Given the description of an element on the screen output the (x, y) to click on. 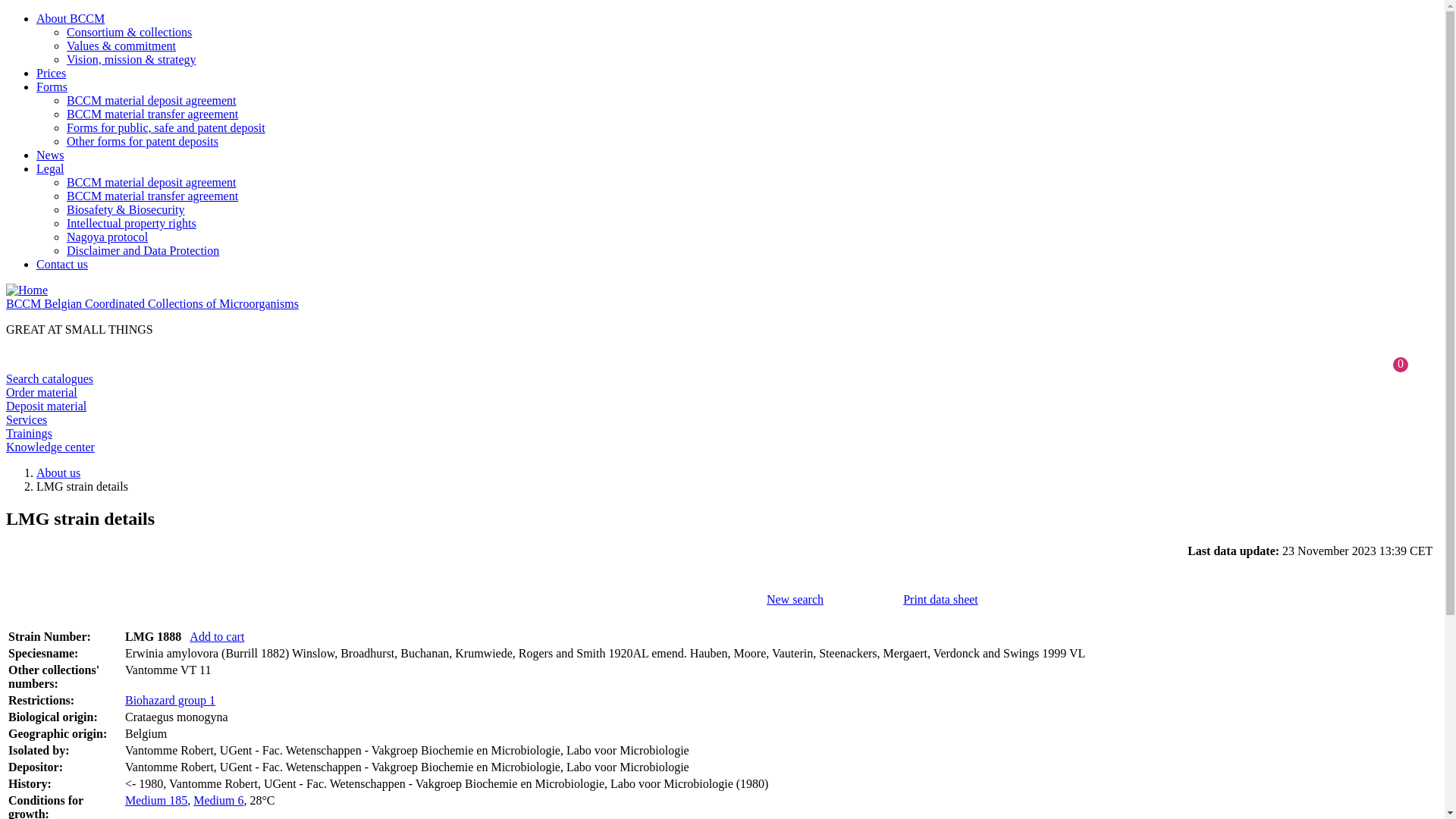
Add to cart Element type: text (216, 636)
Consortium & collections Element type: text (128, 31)
Medium 185 Element type: text (156, 799)
Disclaimer and Data Protection Element type: text (142, 250)
Home Element type: hover (26, 289)
New search Element type: text (794, 599)
Forms for public, safe and patent deposit Element type: text (165, 127)
Nagoya protocol Element type: text (106, 236)
Search catalogues Element type: text (49, 378)
Medium 6 Element type: text (218, 799)
Print data sheet Element type: text (940, 599)
Services Element type: text (26, 419)
Deposit material Element type: text (46, 405)
0 Element type: text (1400, 363)
News Element type: text (49, 154)
Contact us Element type: text (61, 263)
Forms Element type: text (51, 86)
Biosafety & Biosecurity Element type: text (125, 209)
Other forms for patent deposits Element type: text (142, 140)
About us Element type: text (58, 472)
Values & commitment Element type: text (120, 45)
Trainings Element type: text (29, 432)
Knowledge center Element type: text (50, 446)
BCCM Belgian Coordinated Collections of Microorganisms Element type: text (152, 303)
Vision, mission & strategy Element type: text (131, 59)
BCCM material deposit agreement Element type: text (151, 100)
Intellectual property rights Element type: text (131, 222)
Order material Element type: text (41, 391)
Biohazard group 1 Element type: text (170, 699)
BCCM material transfer agreement Element type: text (152, 113)
About BCCM Element type: text (70, 18)
Legal Element type: text (49, 168)
BCCM material transfer agreement Element type: text (152, 195)
Skip to main content Element type: text (56, 12)
BCCM material deposit agreement Element type: text (151, 181)
Prices Element type: text (50, 72)
